Given the description of an element on the screen output the (x, y) to click on. 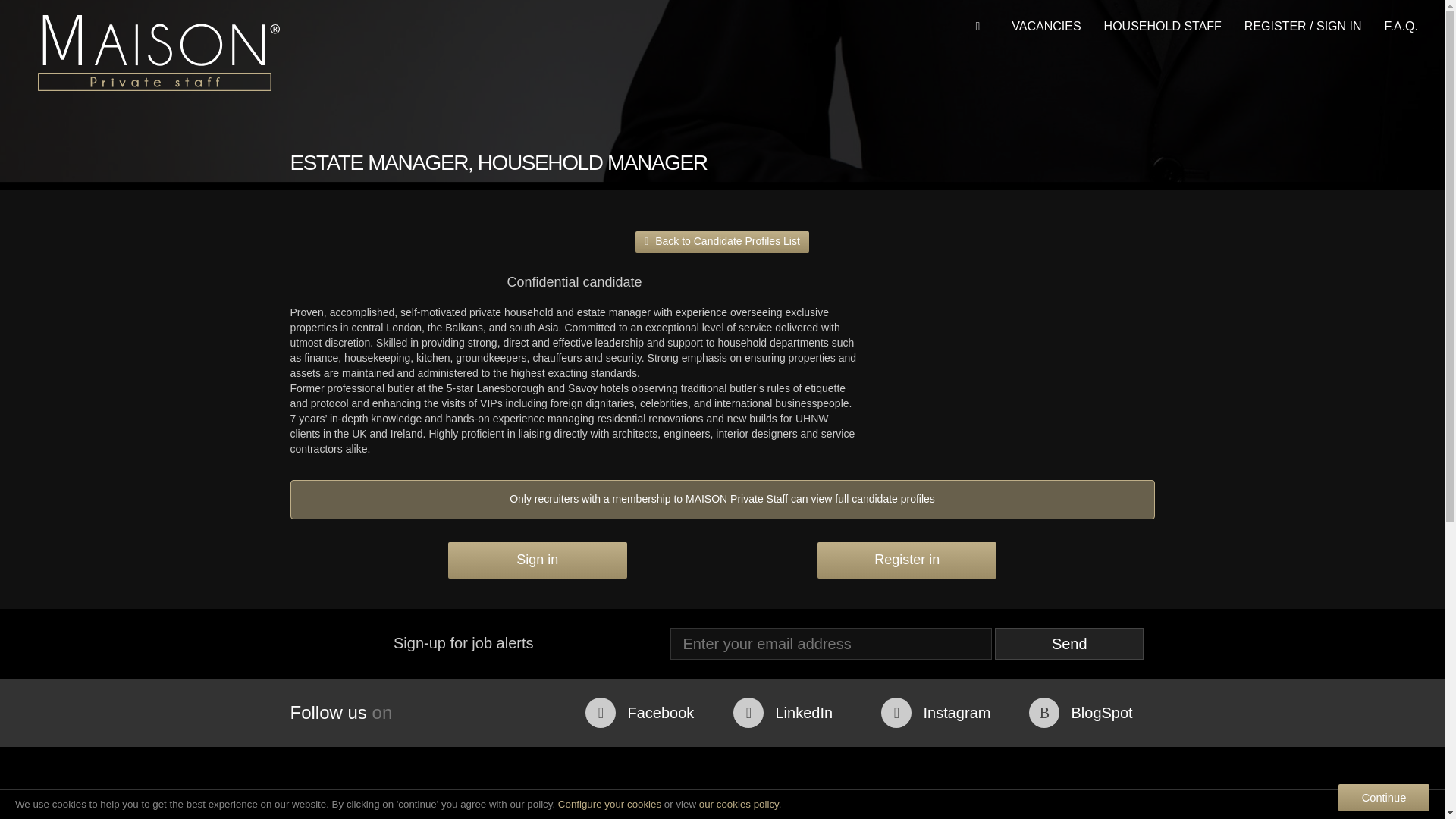
F.A.Q. (1401, 26)
Configure your cookies (609, 803)
Household Staff (1163, 26)
BlogSpot (1091, 712)
Register in (905, 560)
Continue (1383, 797)
Instagram (943, 712)
Maison Private Staff (158, 52)
F.A.Q. (1401, 26)
our cookies policy (738, 803)
